Given the description of an element on the screen output the (x, y) to click on. 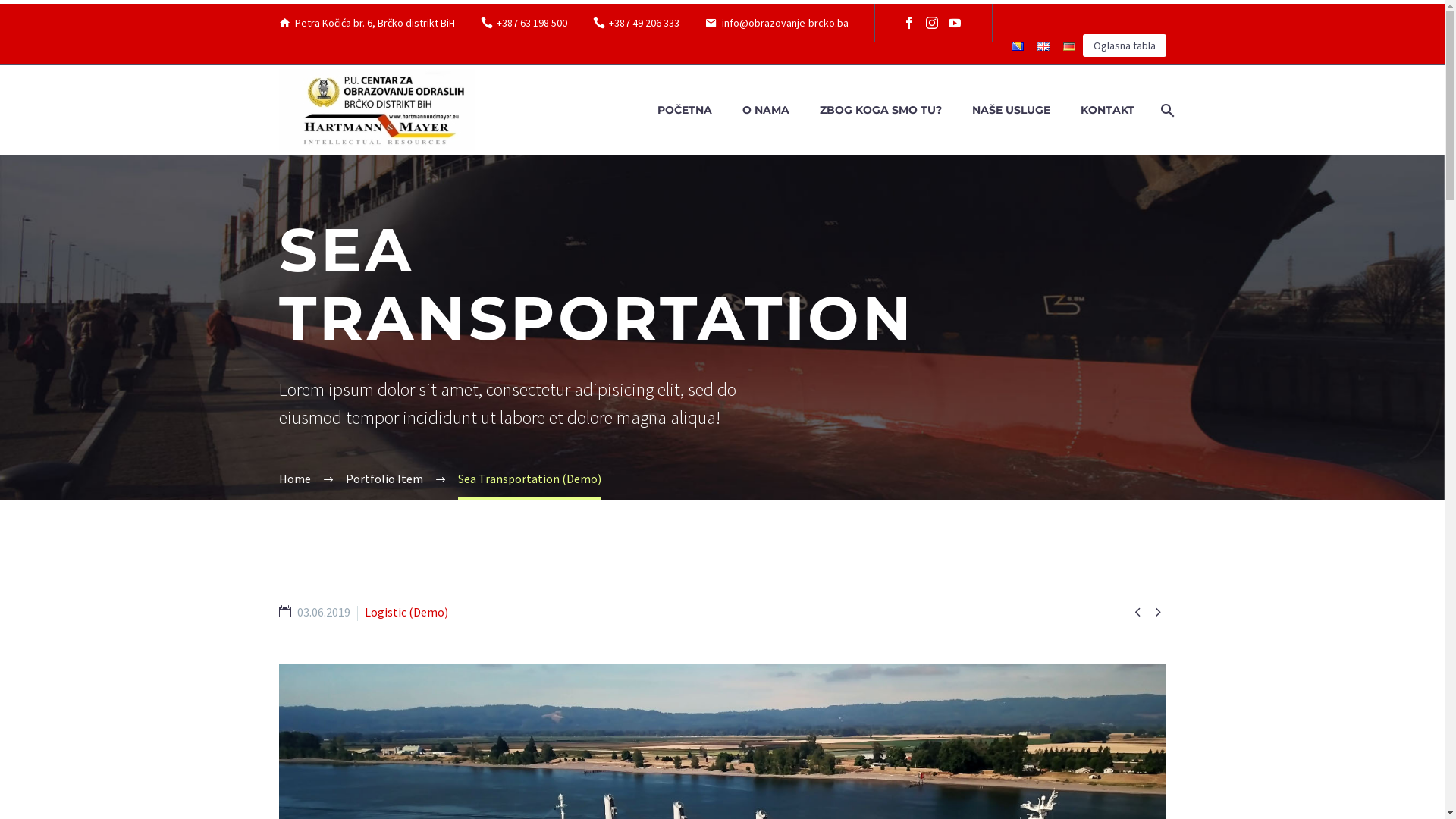
ZBOG KOGA SMO TU? Element type: text (879, 110)
Oglasna tabla Element type: text (1124, 45)
KONTAKT Element type: text (1106, 110)
Instagram Element type: hover (931, 22)
Facebook Element type: hover (908, 22)
O NAMA Element type: text (764, 110)
YouTube Element type: hover (954, 22)
+387 63 198 500 Element type: text (531, 22)
info@obrazovanje-brcko.ba Element type: text (784, 22)
Home Element type: text (294, 478)
